Given the description of an element on the screen output the (x, y) to click on. 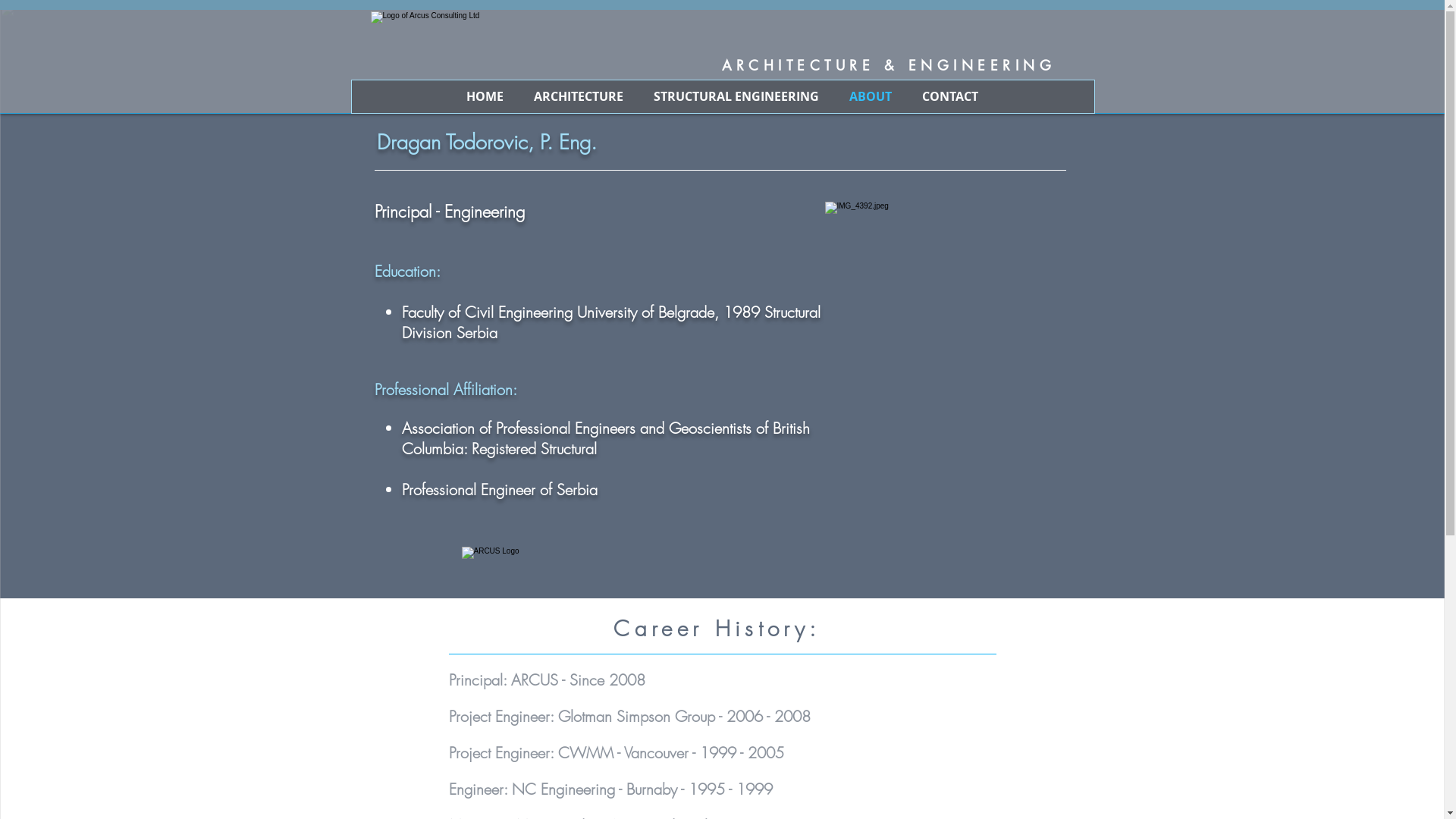
ARCHITECTURE Element type: text (578, 96)
Career History:  Element type: text (722, 628)
ARCHITECTURE & ENGINEERING Element type: text (799, 65)
ABOUT Element type: text (870, 96)
CONTACT Element type: text (949, 96)
STRUCTURAL ENGINEERING Element type: text (736, 96)
HOME Element type: text (484, 96)
